Given the description of an element on the screen output the (x, y) to click on. 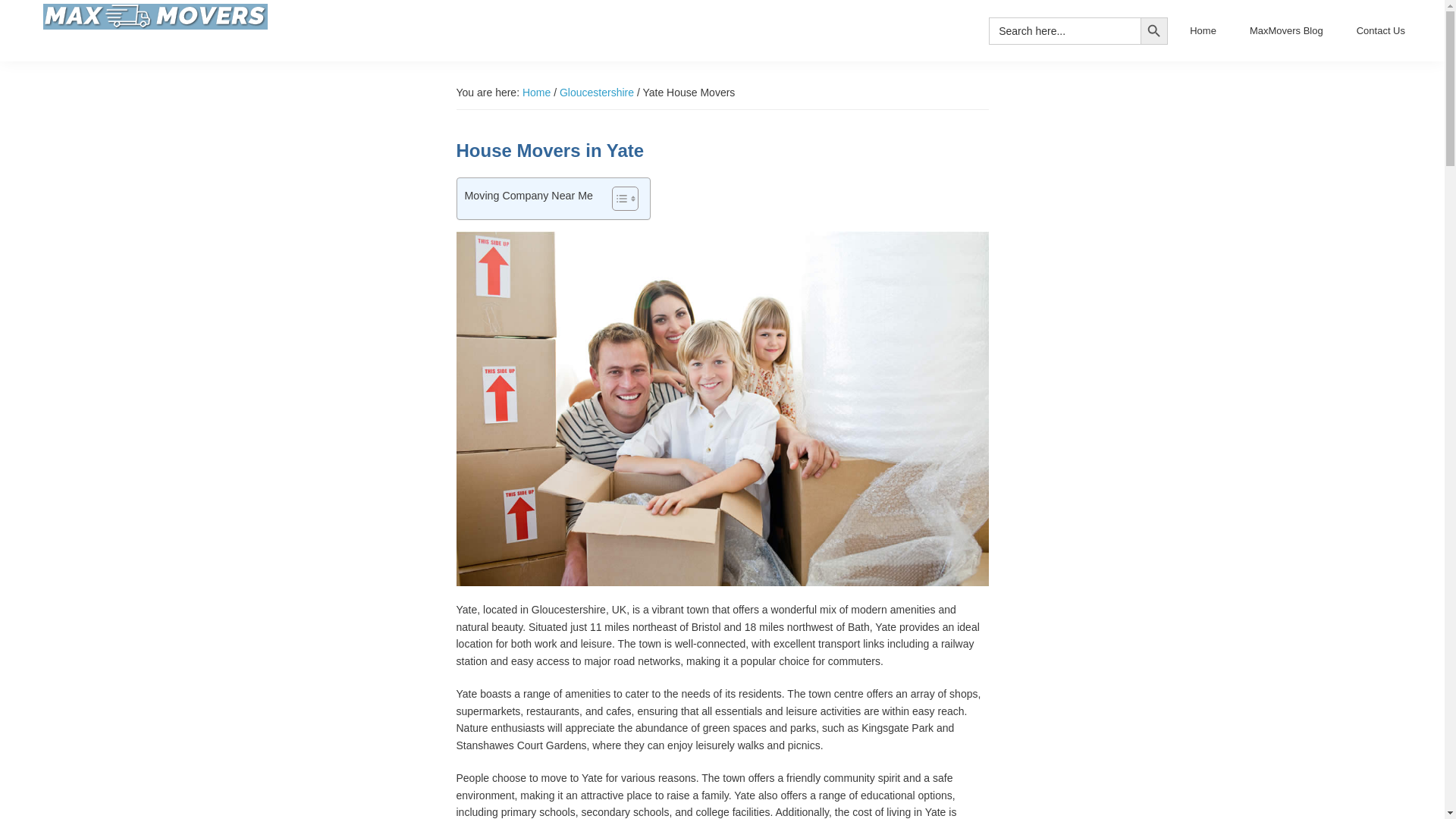
MaxMovers Blog (1287, 30)
Contact Us (1380, 30)
Home (536, 92)
Search Button (1153, 31)
Home (1202, 30)
Gloucestershire (596, 92)
